Given the description of an element on the screen output the (x, y) to click on. 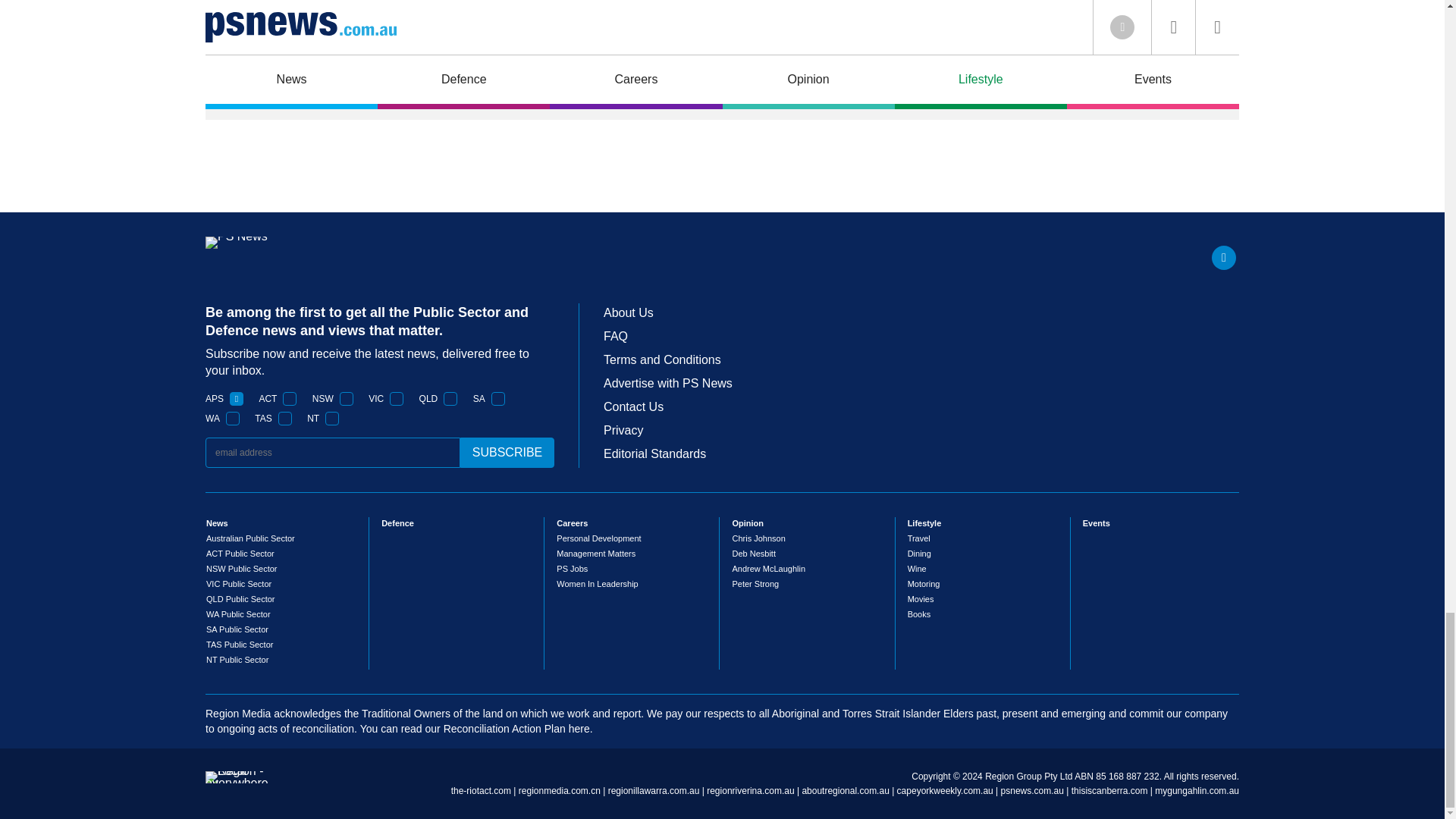
1 (346, 398)
LinkedIn (1223, 257)
1 (236, 398)
1 (289, 398)
1 (498, 398)
1 (285, 418)
1 (396, 398)
Region - Local everywhere (236, 783)
1 (331, 418)
1 (232, 418)
subscribe (507, 452)
1 (450, 398)
